Given the description of an element on the screen output the (x, y) to click on. 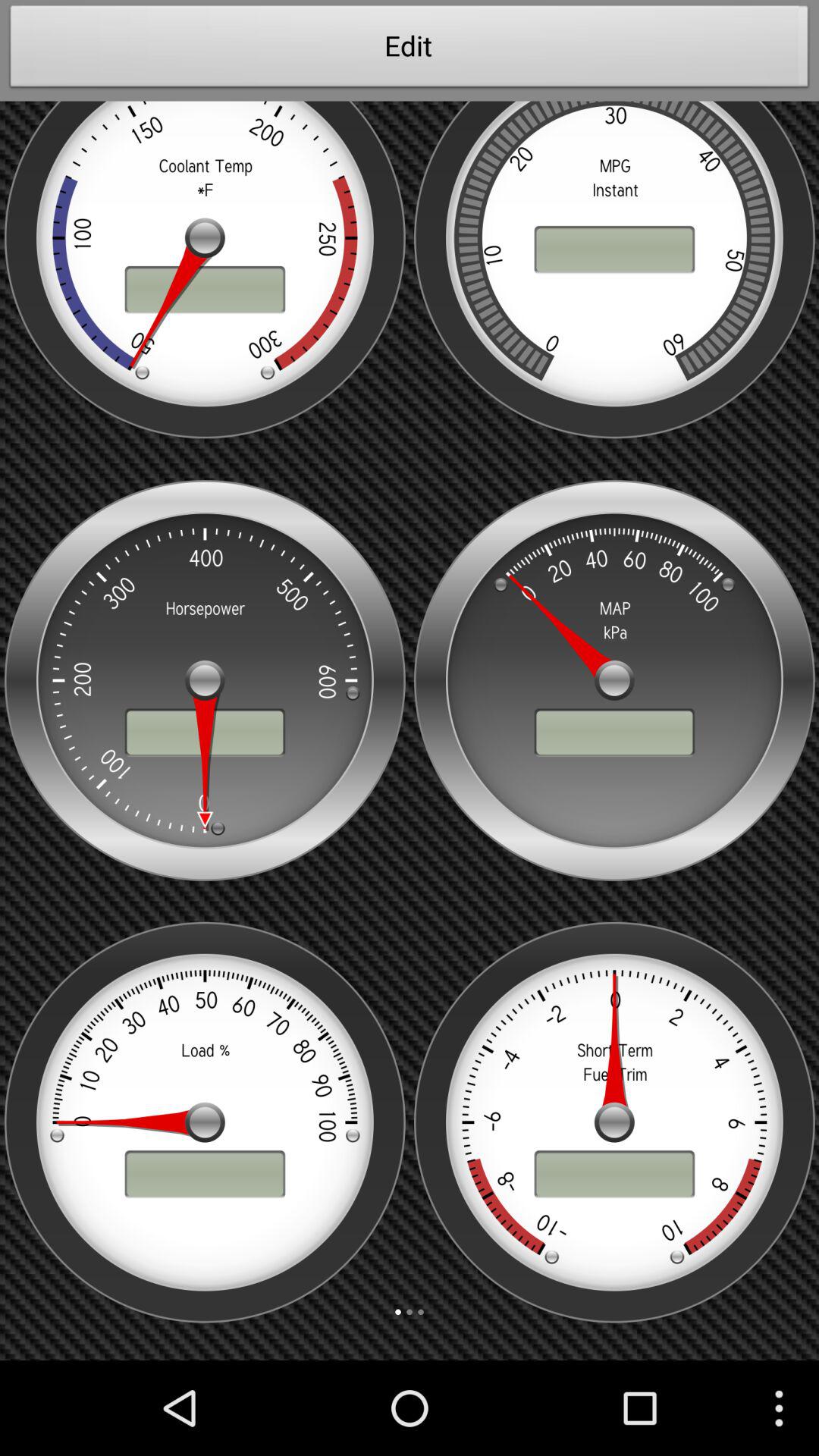
launch the edit (409, 50)
